Given the description of an element on the screen output the (x, y) to click on. 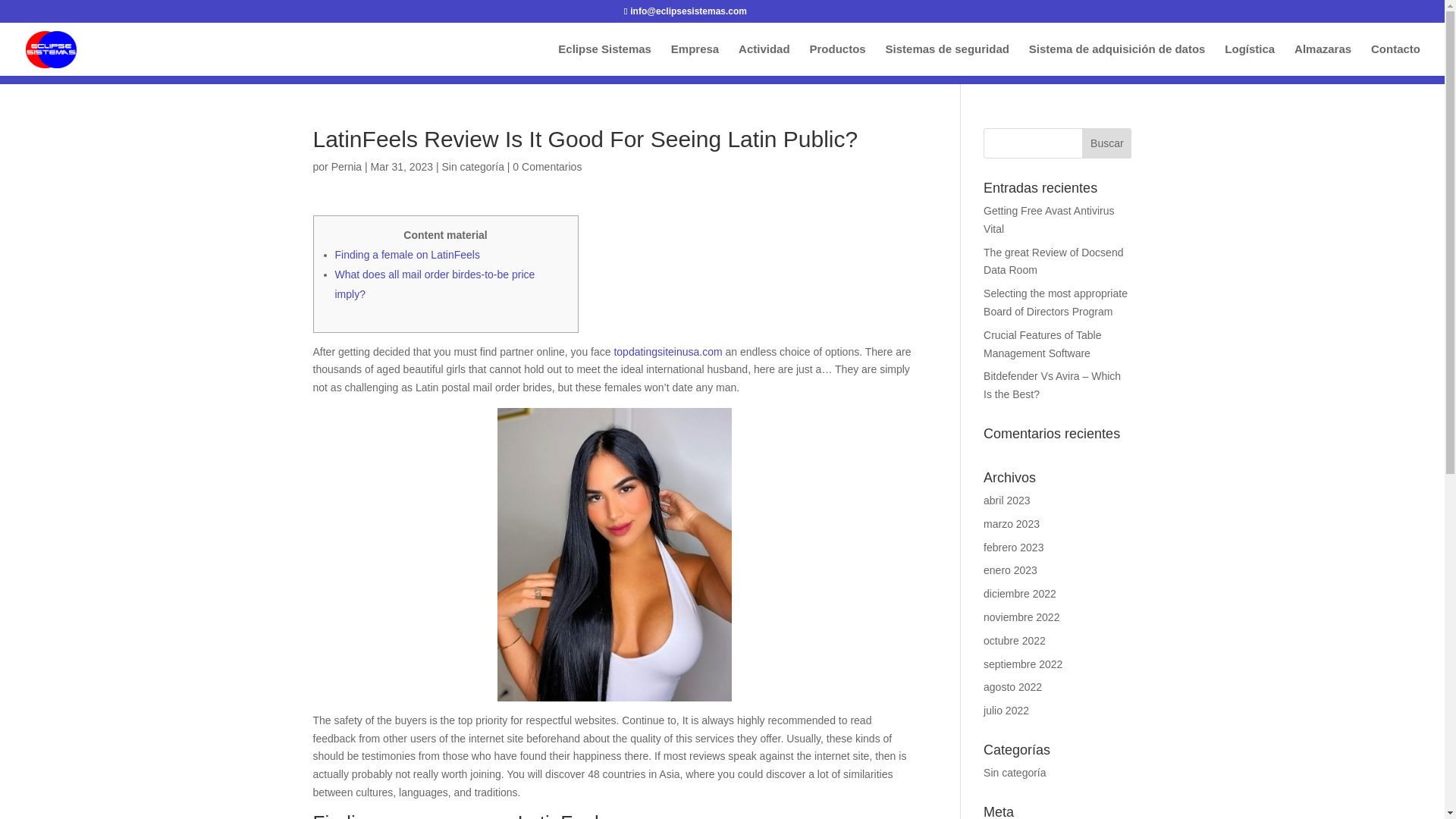
The great Review of Docsend Data Room (1053, 261)
What does all mail order birdes-to-be price imply? (434, 284)
Buscar (1106, 142)
Buscar (1106, 142)
0 Comentarios (546, 166)
Contacto (1396, 60)
septiembre 2022 (1023, 664)
Almazaras (1322, 60)
febrero 2023 (1013, 547)
julio 2022 (1006, 710)
abril 2023 (1007, 500)
Empresa (695, 60)
Mensajes de Pernia (346, 166)
topdatingsiteinusa.com (667, 351)
agosto 2022 (1013, 686)
